Given the description of an element on the screen output the (x, y) to click on. 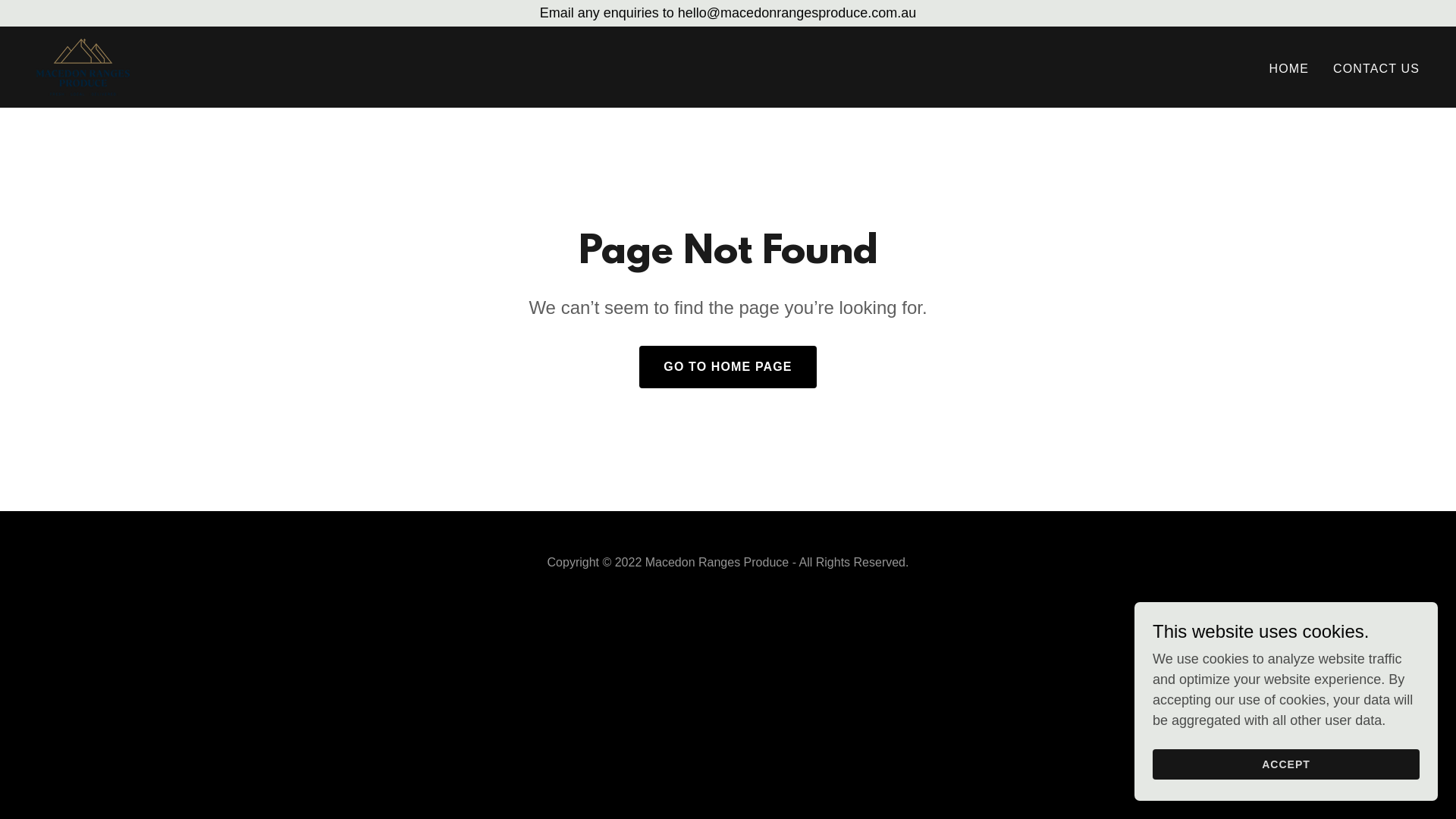
ACCEPT Element type: text (1285, 764)
HOME Element type: text (1289, 68)
GO TO HOME PAGE Element type: text (727, 366)
CONTACT US Element type: text (1376, 68)
